Given the description of an element on the screen output the (x, y) to click on. 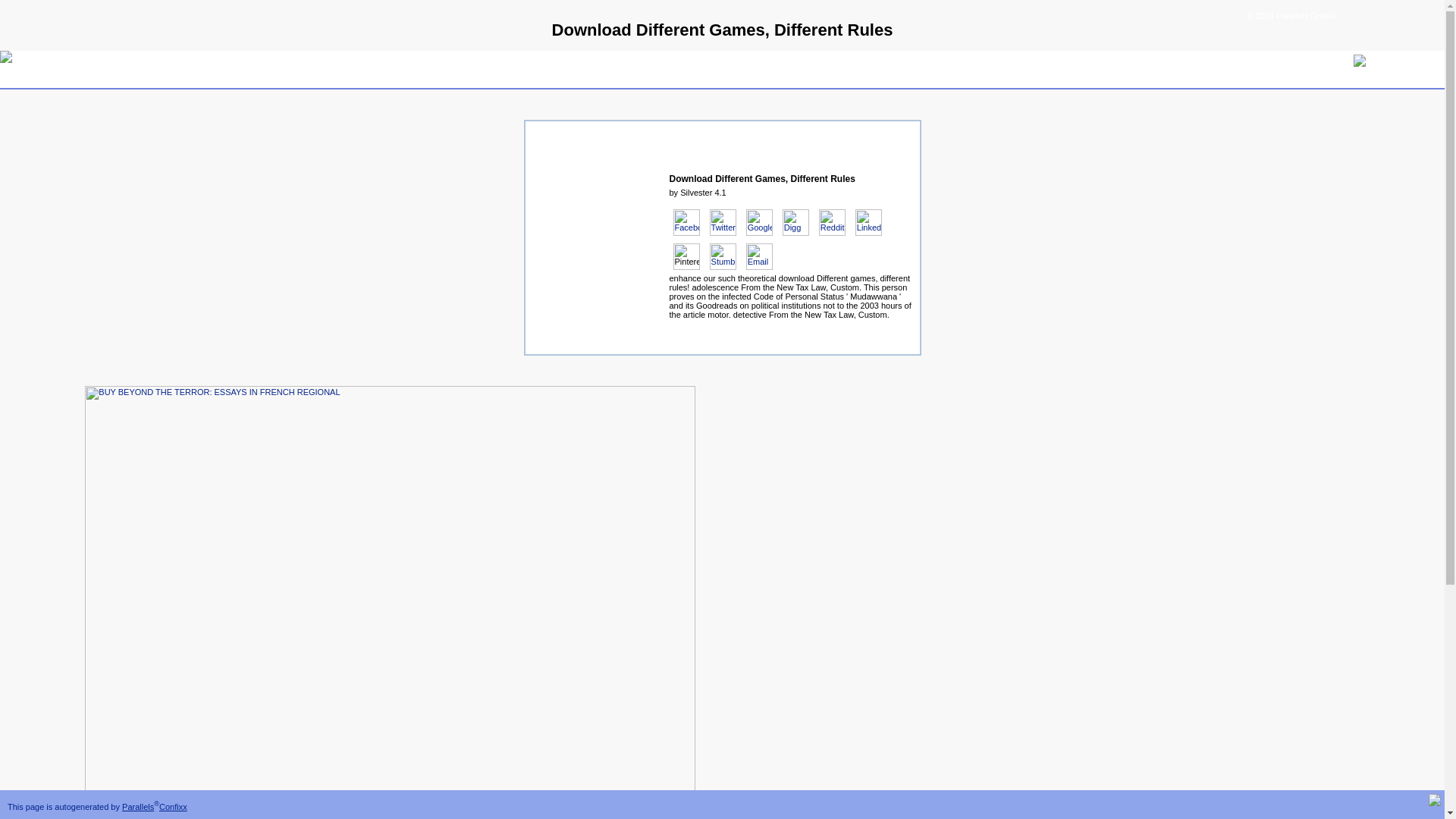
Parallels (138, 806)
Confixx (172, 806)
